Given the description of an element on the screen output the (x, y) to click on. 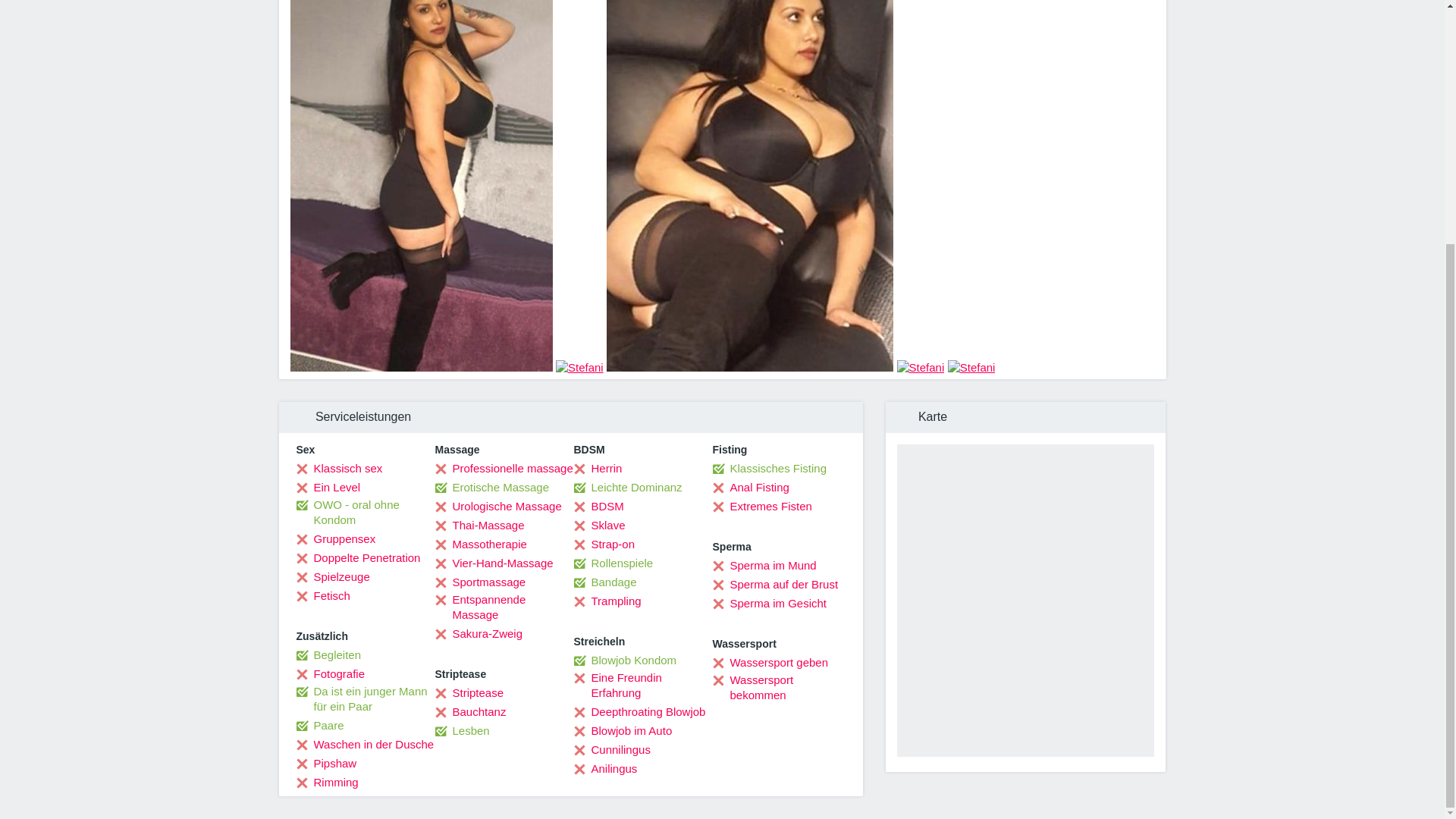
Professionelle massage (504, 468)
Waschen in der Dusche (364, 744)
Ein Level (327, 487)
Begleiten (328, 654)
Spielzeuge (332, 576)
Doppelte Penetration (357, 557)
Pipshaw (325, 763)
Massotherapie (481, 544)
Thai-Massage (479, 525)
Paare (319, 725)
